Given the description of an element on the screen output the (x, y) to click on. 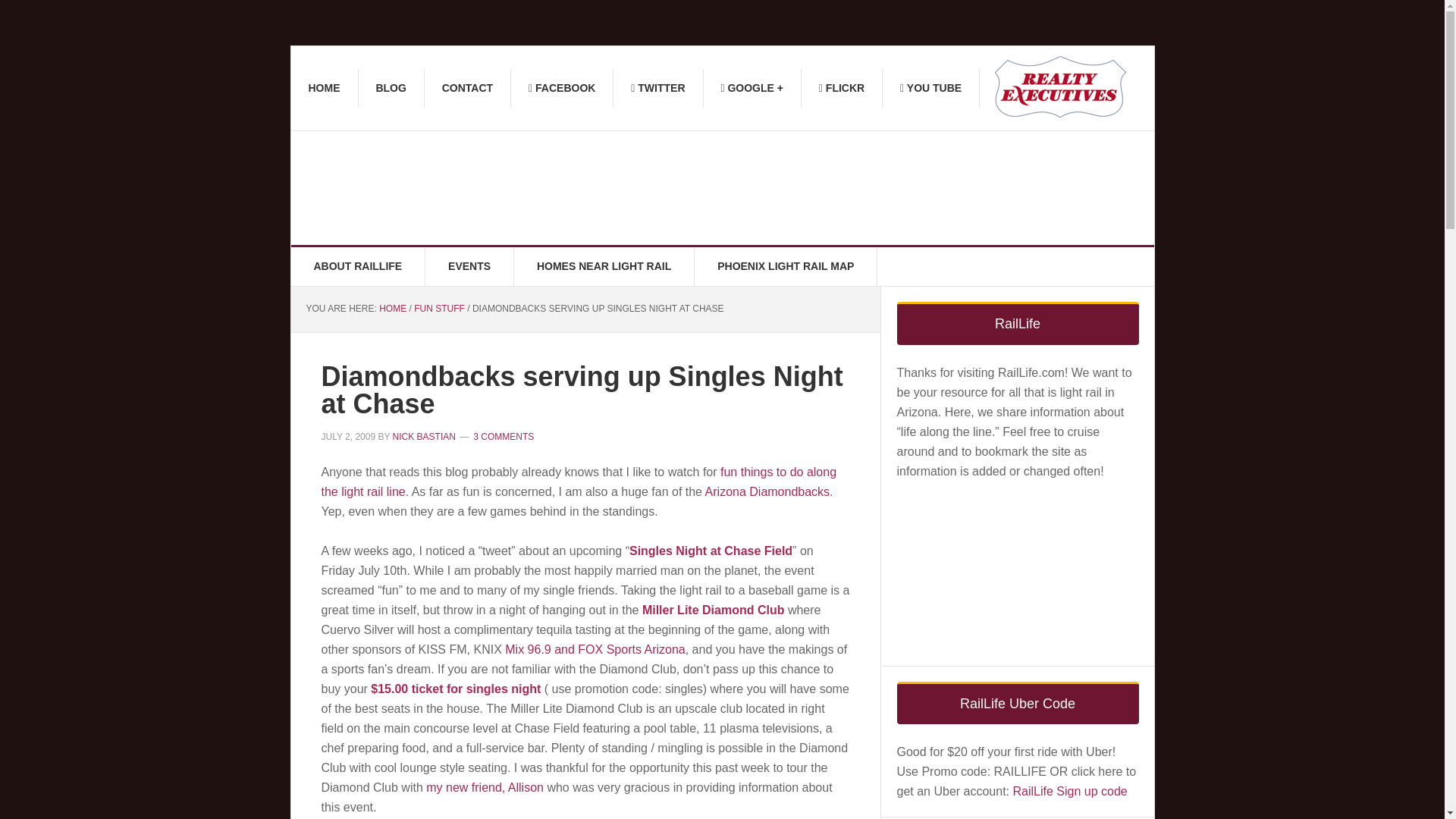
HOMES NEAR LIGHT RAIL (603, 266)
EVENTS (469, 266)
Miller Lite Diamond Club (713, 609)
FUN STUFF (438, 308)
FLICKR (842, 87)
Mix 96.9 and FOX Sports Arizona (594, 649)
HOME (392, 308)
CONTACT (468, 87)
ABOUT RAILLIFE (358, 266)
Nick Bastian (1060, 86)
